Given the description of an element on the screen output the (x, y) to click on. 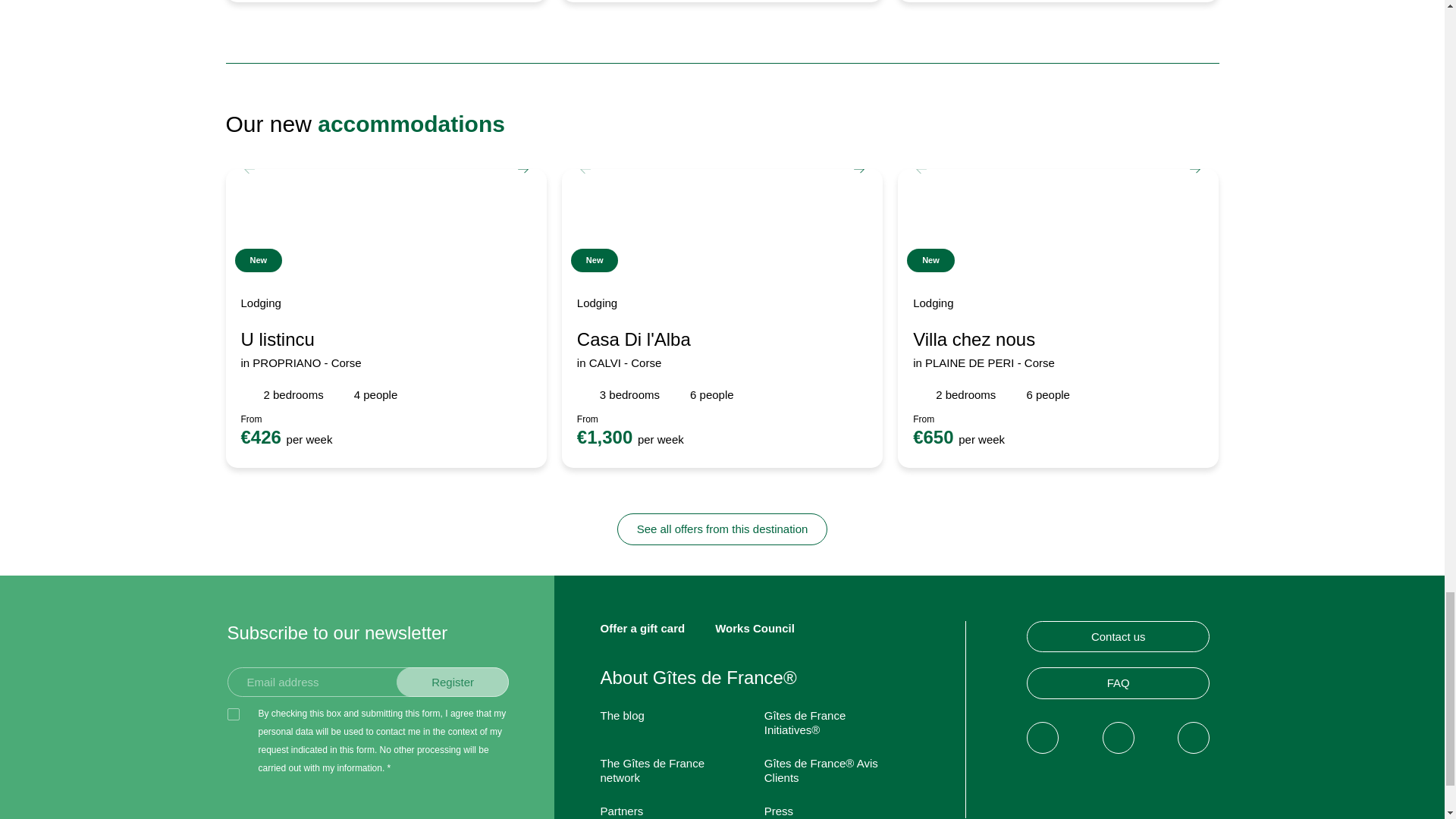
Register (452, 681)
The Works Council website (754, 628)
1 (233, 714)
Le blog (621, 715)
